Given the description of an element on the screen output the (x, y) to click on. 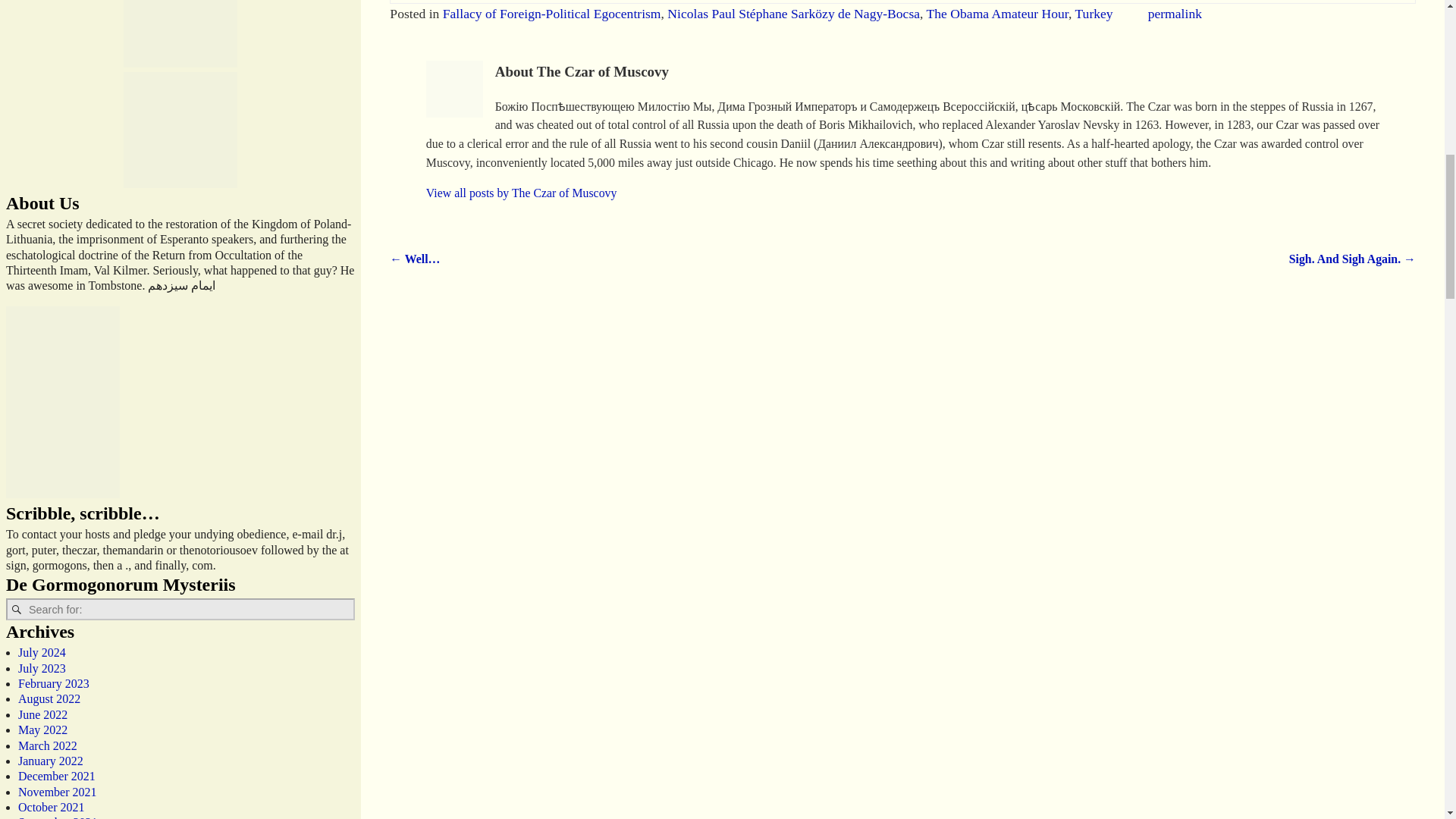
September 2021 (57, 817)
November 2021 (57, 791)
Fallacy of Foreign-Political Egocentrism (551, 13)
The Obama Amateur Hour (997, 13)
June 2022 (41, 714)
View all posts by The Czar of Muscovy (521, 192)
July 2024 (41, 652)
March 2022 (47, 744)
July 2023 (41, 667)
October 2021 (50, 807)
